Given the description of an element on the screen output the (x, y) to click on. 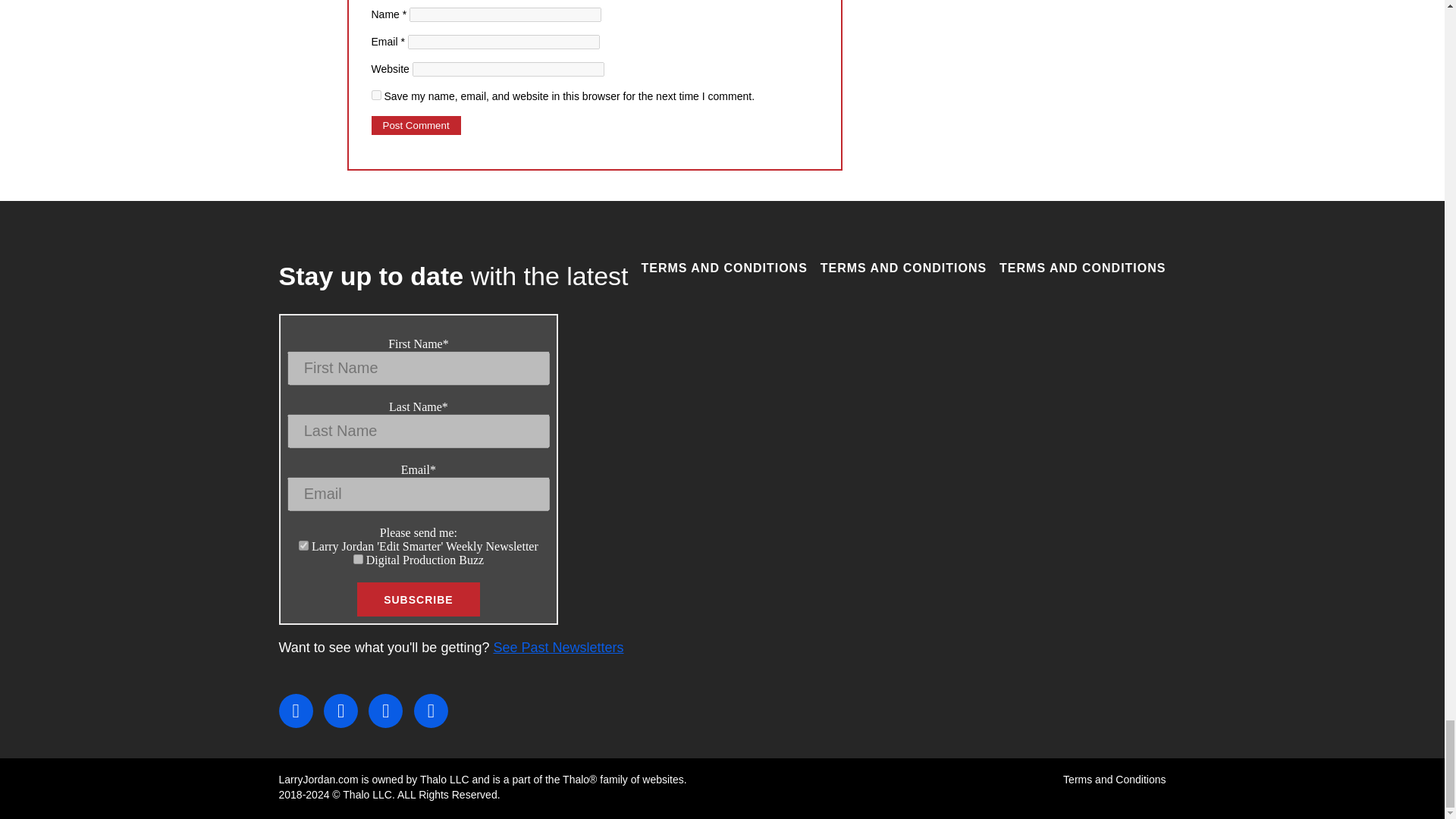
Post Comment (416, 125)
yes (376, 94)
Larry Jordan 'Edit Smarter' Weekly Newsletter (303, 545)
Digital Production Buzz (357, 559)
Post Comment (416, 125)
SUBSCRIBE (417, 599)
